Given the description of an element on the screen output the (x, y) to click on. 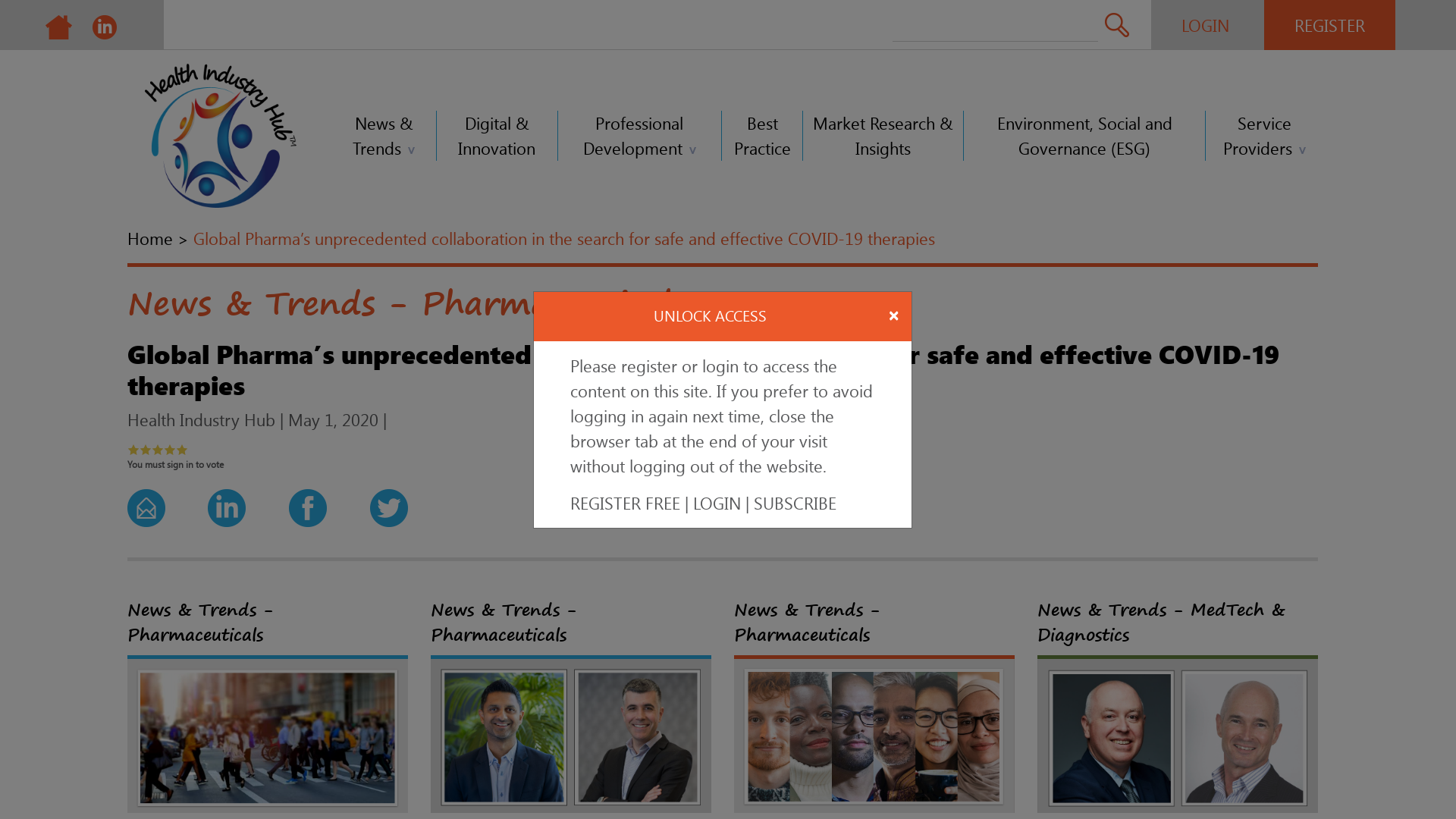
News & Trends Element type: text (383, 135)
Facebook Element type: hover (307, 504)
Health Industry Hub LinkedIn Element type: hover (104, 24)
Twitter Element type: hover (388, 504)
LinkedIn Element type: hover (226, 504)
SUBSCRIBE Element type: text (794, 502)
REGISTER Element type: text (1329, 25)
Home Element type: text (149, 237)
Service Providers Element type: text (1263, 135)
LOGIN Element type: text (1205, 25)
Digital & Innovation Element type: text (496, 135)
Professional Development Element type: text (640, 135)
Mail Element type: hover (146, 504)
Best Practice Element type: text (762, 135)
Market Research & Insights Element type: text (883, 135)
Environment, Social and Governance (ESG) Element type: text (1084, 135)
Search Element type: text (1116, 24)
Health Industry Hub Element type: hover (58, 24)
